Given the description of an element on the screen output the (x, y) to click on. 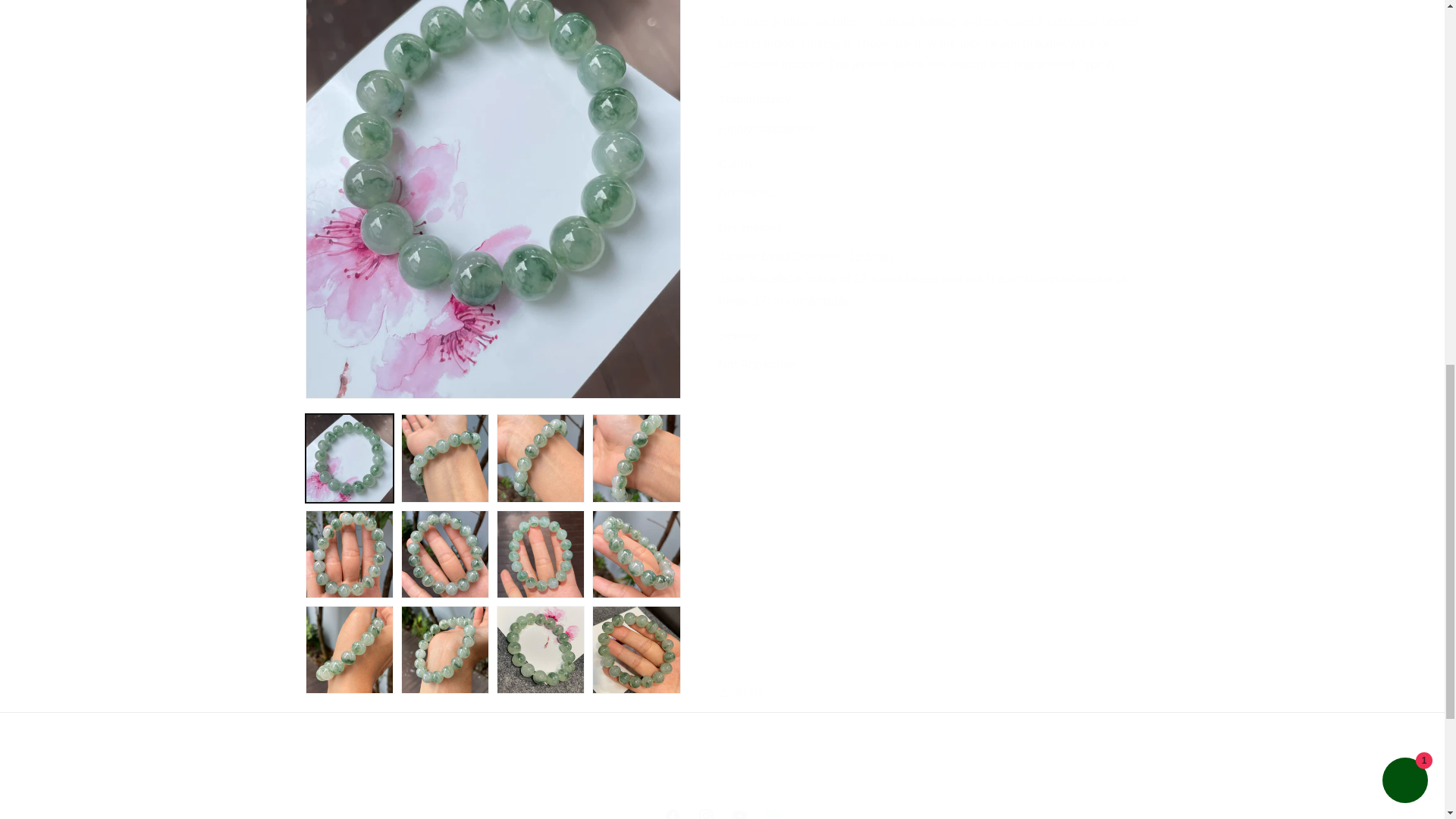
YouTube video player (721, 809)
